Given the description of an element on the screen output the (x, y) to click on. 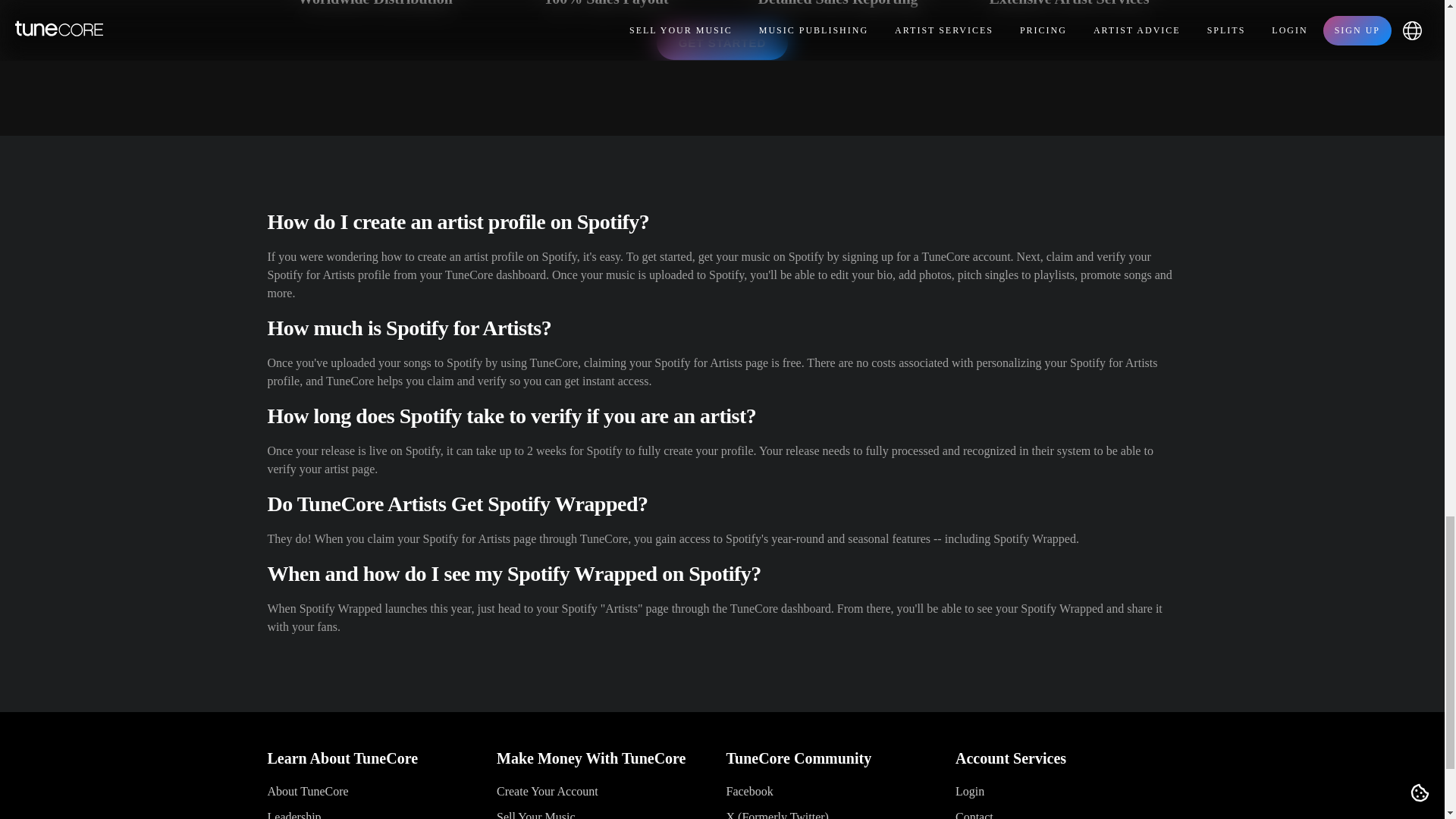
GET STARTED (722, 42)
About TuneCore (306, 790)
Leadership (293, 814)
Login (969, 790)
Contact (973, 814)
Create Your Account (547, 790)
Facebook (749, 790)
Sell Your Music (535, 814)
